Given the description of an element on the screen output the (x, y) to click on. 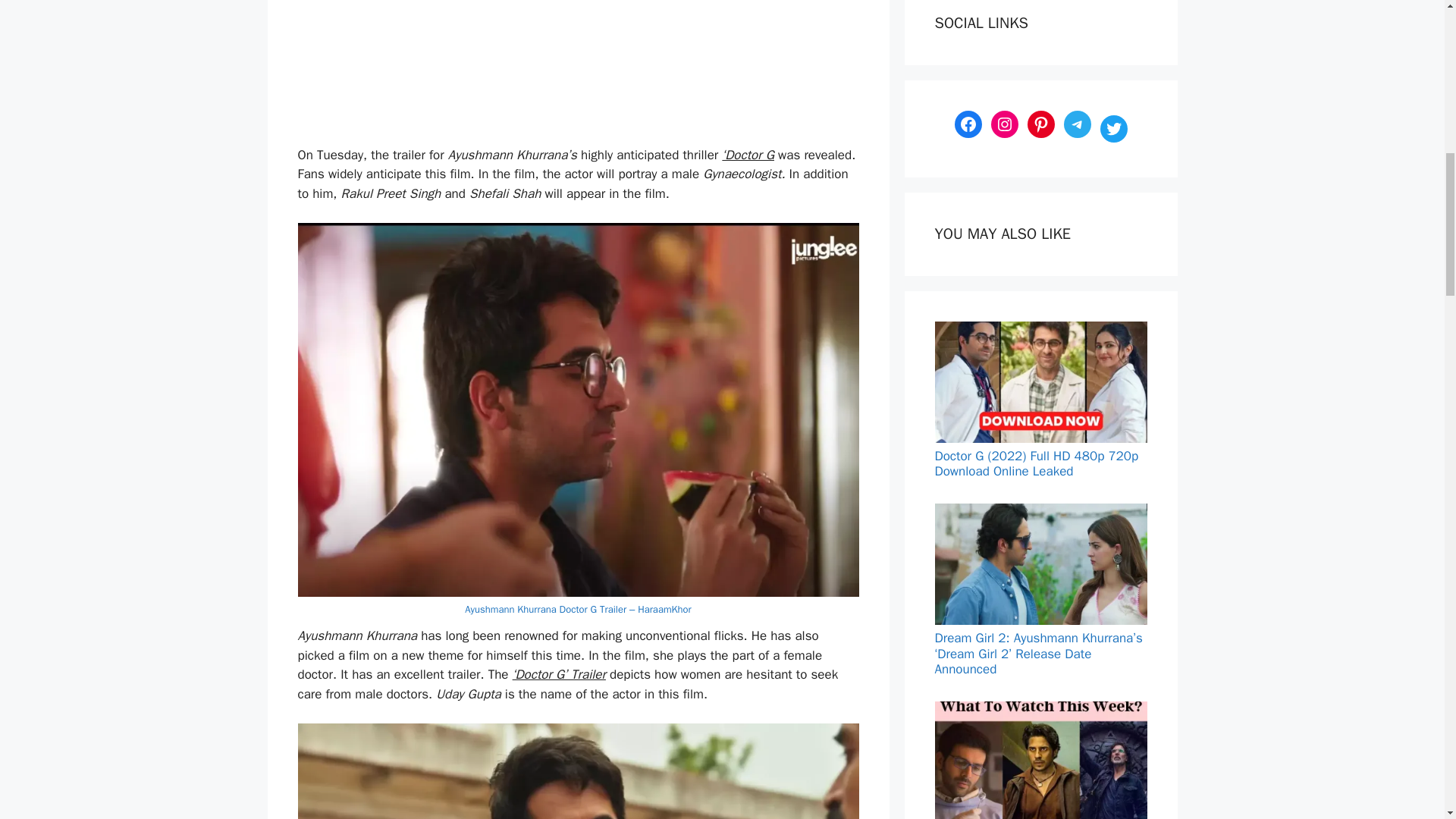
Advertisement (659, 72)
Doctor G Trailer Review - HaraamKhor (578, 771)
